Given the description of an element on the screen output the (x, y) to click on. 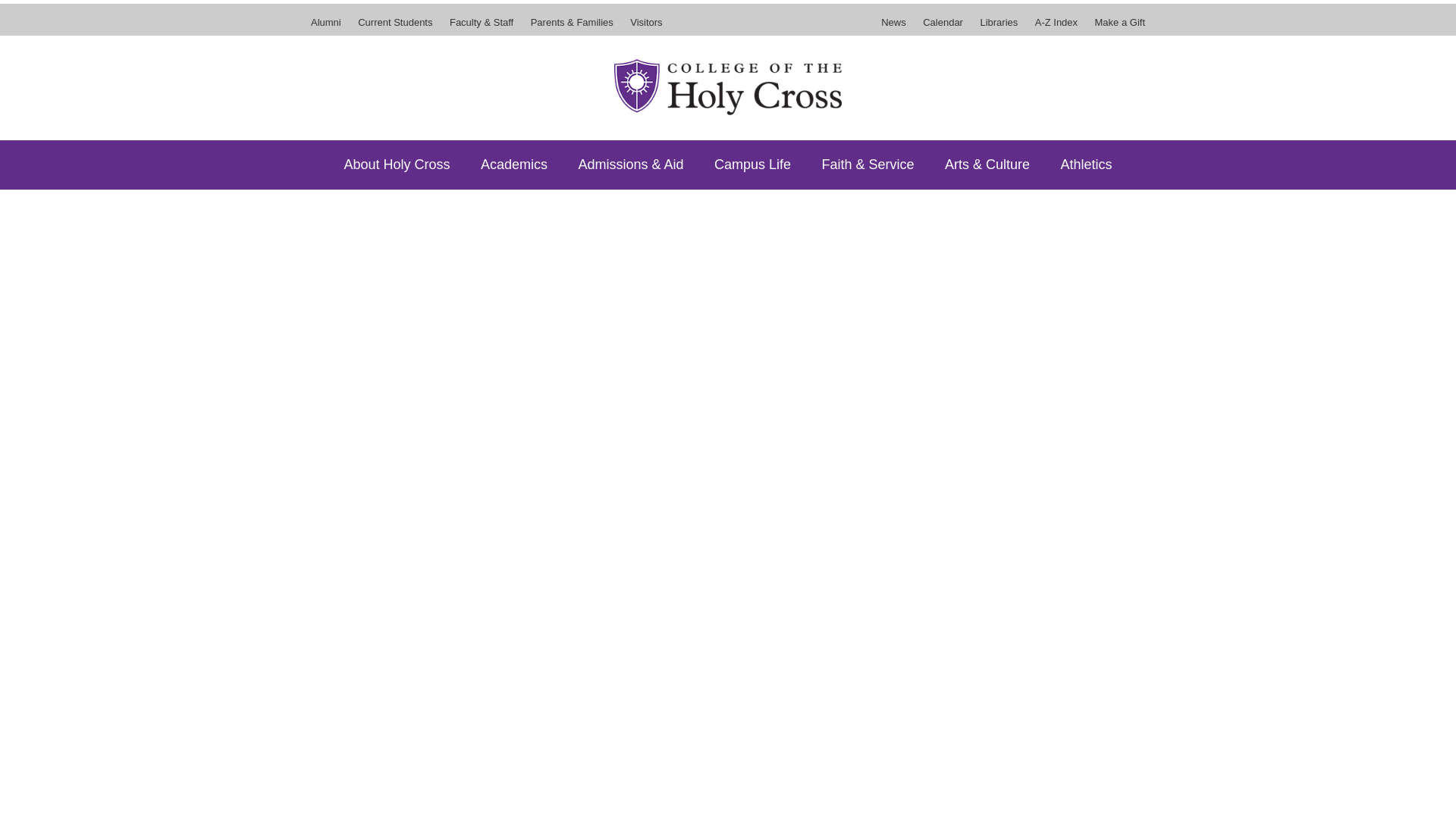
News (896, 27)
College of the Holy Cross Home (727, 86)
Visitors (642, 27)
Calendar (942, 27)
Libraries (998, 27)
Make a Gift (1115, 27)
Alumni (329, 27)
Academics (513, 164)
A-Z Index (1055, 27)
About Holy Cross (396, 164)
Current Students (394, 27)
